Given the description of an element on the screen output the (x, y) to click on. 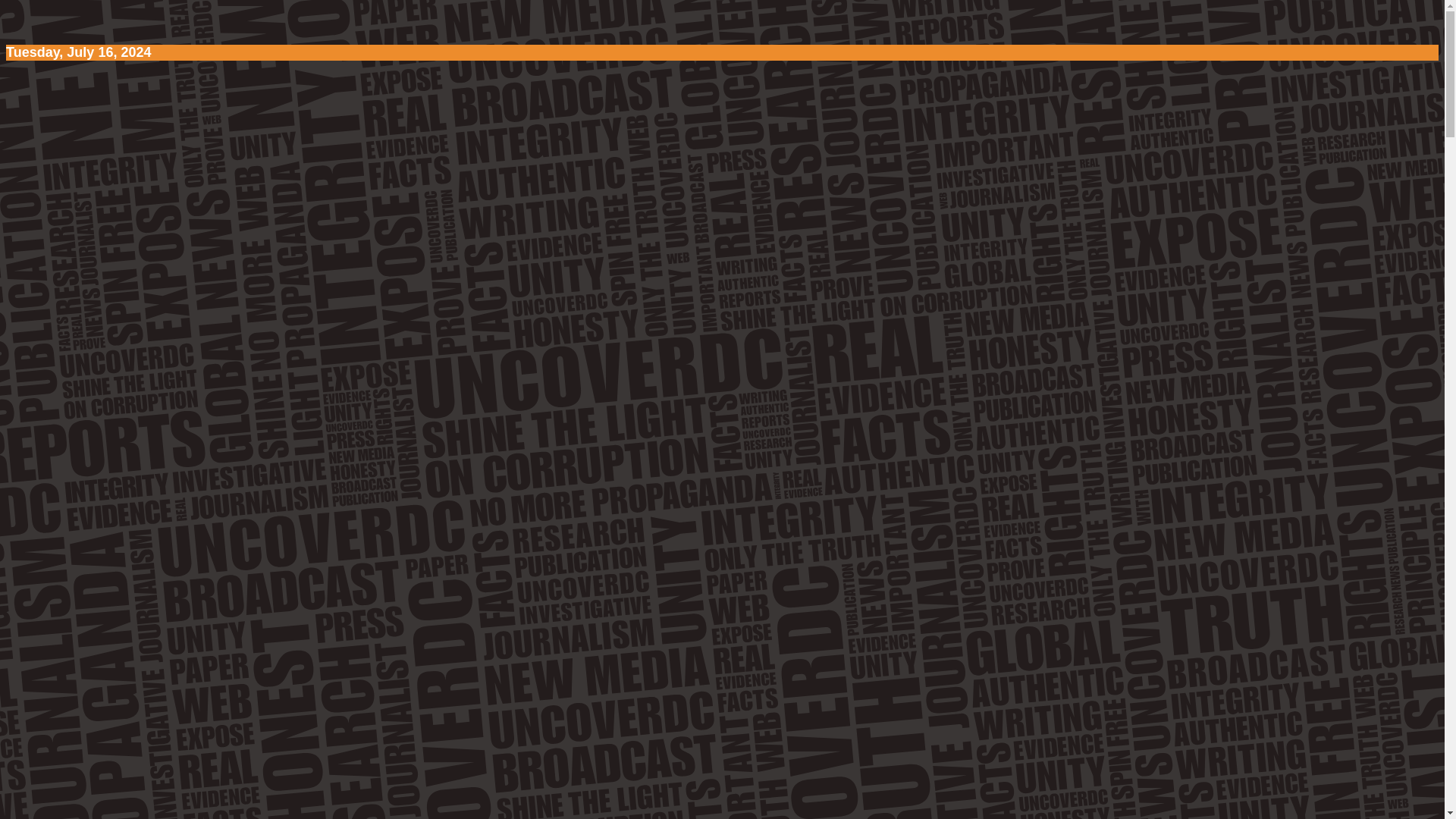
UncoverDC (218, 548)
UncoverDC (134, 105)
TEAM (85, 253)
PRESS (59, 221)
PODCASTS (74, 205)
ABOUT (60, 237)
JOURNALISM (81, 189)
SUPPORT (68, 268)
